Given the description of an element on the screen output the (x, y) to click on. 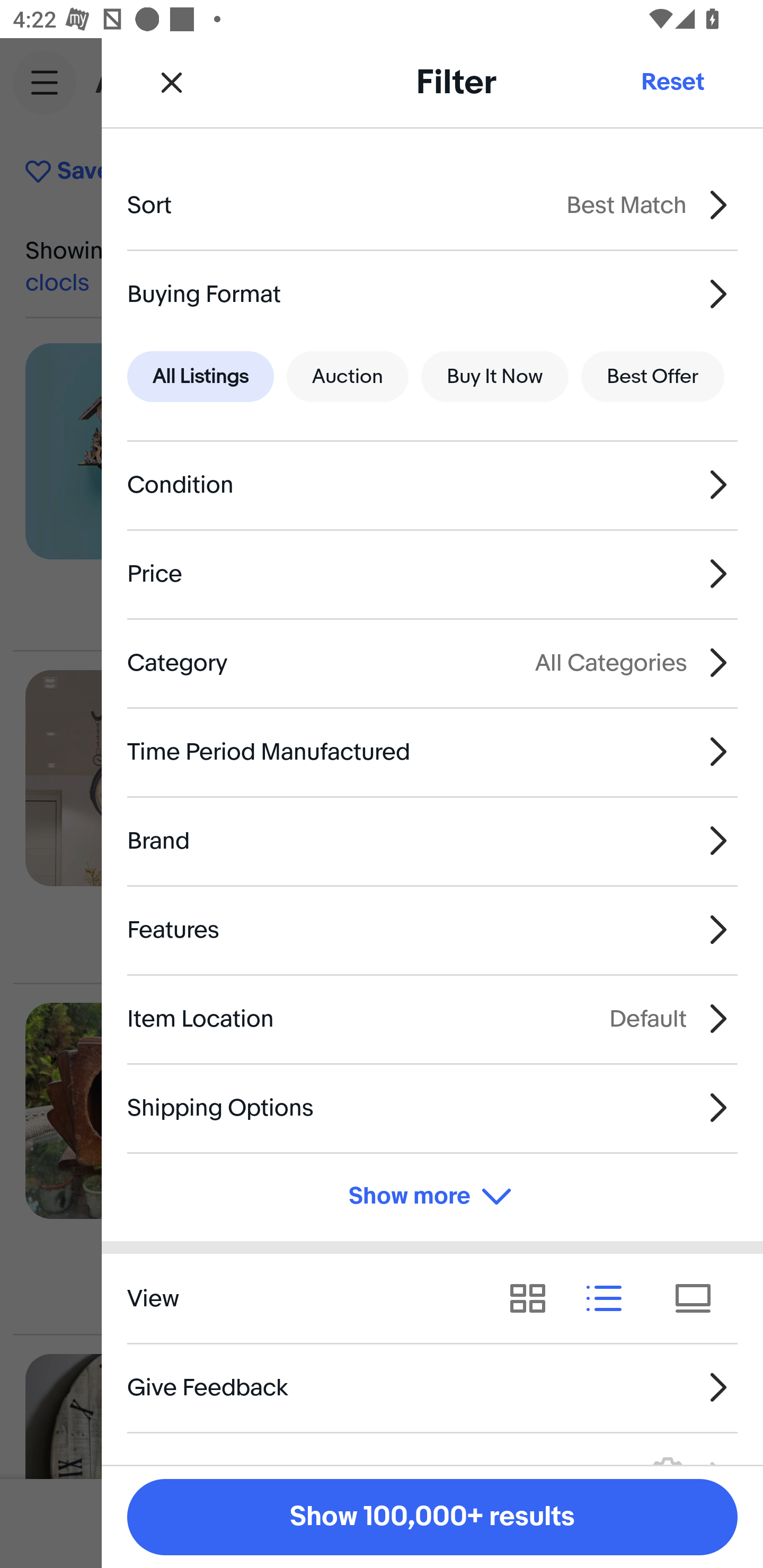
Close Filter (171, 81)
Reset (672, 81)
Buying Format (432, 293)
All Listings (200, 376)
Auction (347, 376)
Buy It Now (494, 376)
Best Offer (652, 376)
Condition (432, 484)
Price (432, 573)
Category All Categories (432, 662)
Time Period Manufactured (432, 751)
Brand (432, 840)
Features (432, 929)
Item Location Default (432, 1018)
Shipping Options (432, 1107)
Show more (432, 1196)
View results as grid (533, 1297)
View results as list (610, 1297)
View results as tiles (699, 1297)
Show 100,000+ results (432, 1516)
